Given the description of an element on the screen output the (x, y) to click on. 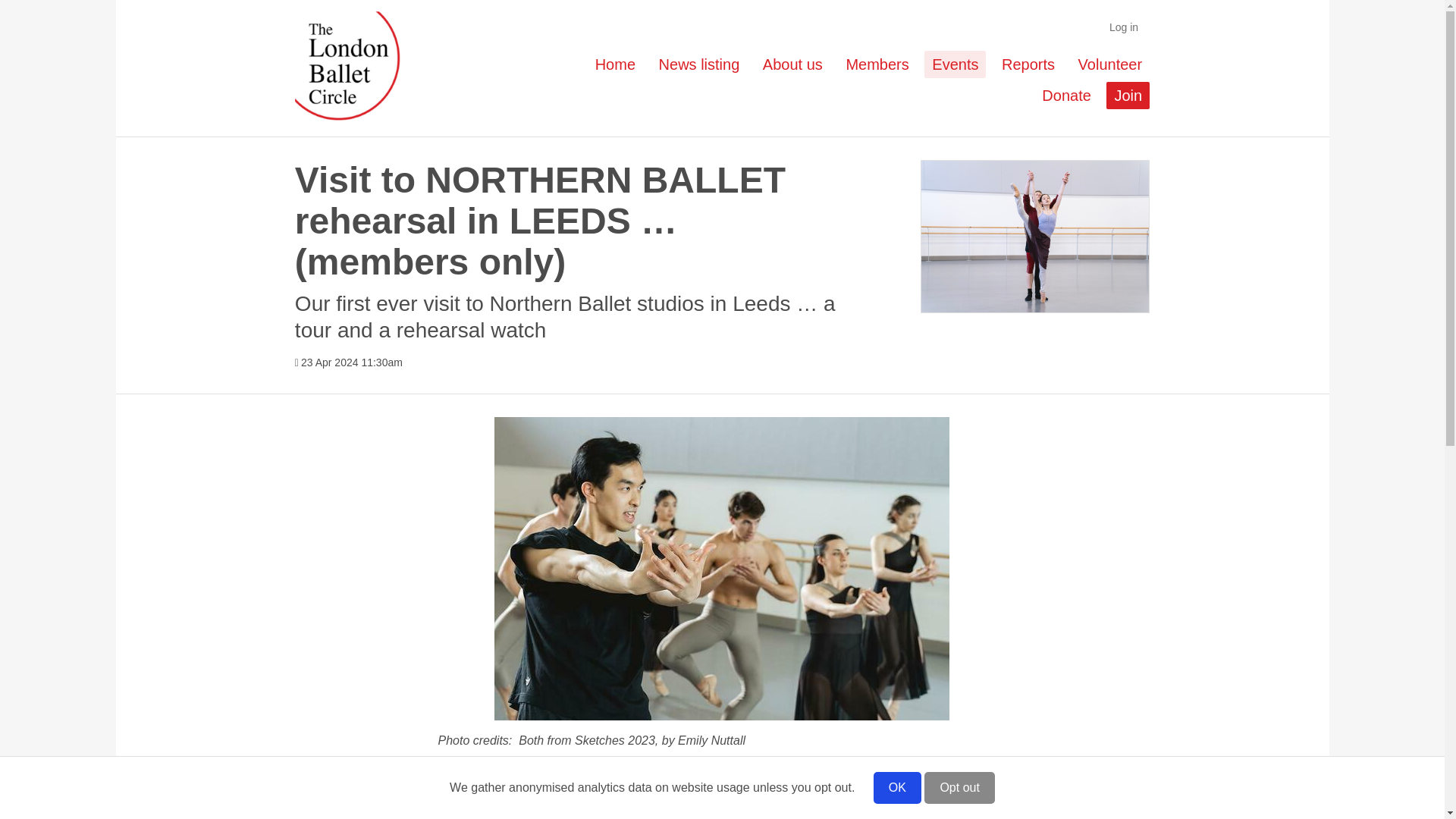
Join (1128, 94)
Reports (1028, 63)
Members (876, 63)
Events (954, 63)
About us (792, 63)
Donate (1066, 94)
News listing (699, 63)
Volunteer (1110, 63)
Log in (1123, 27)
Opt out (959, 787)
OK (897, 787)
Home (615, 63)
